Given the description of an element on the screen output the (x, y) to click on. 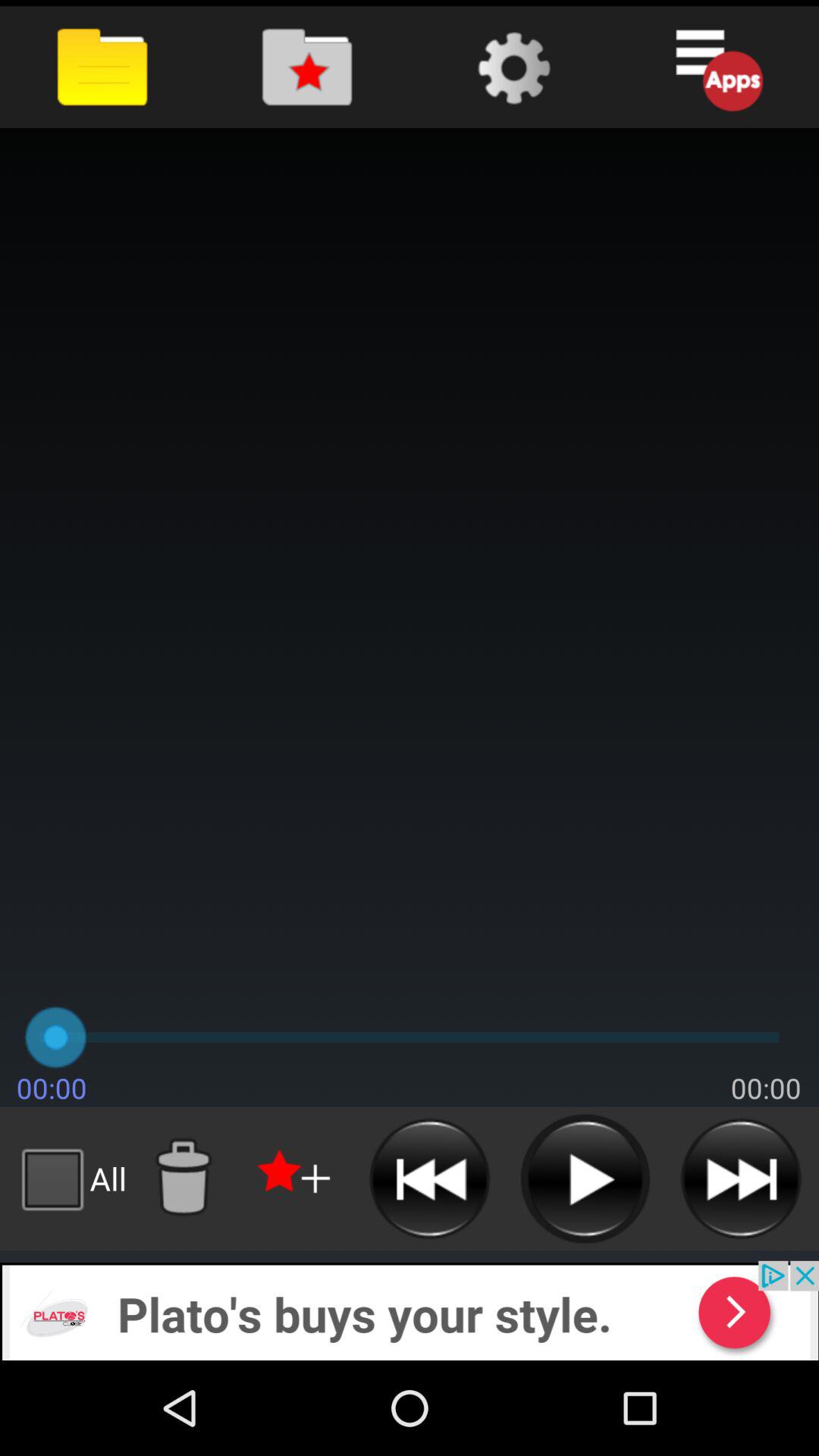
automatic call recording application (295, 1178)
